Given the description of an element on the screen output the (x, y) to click on. 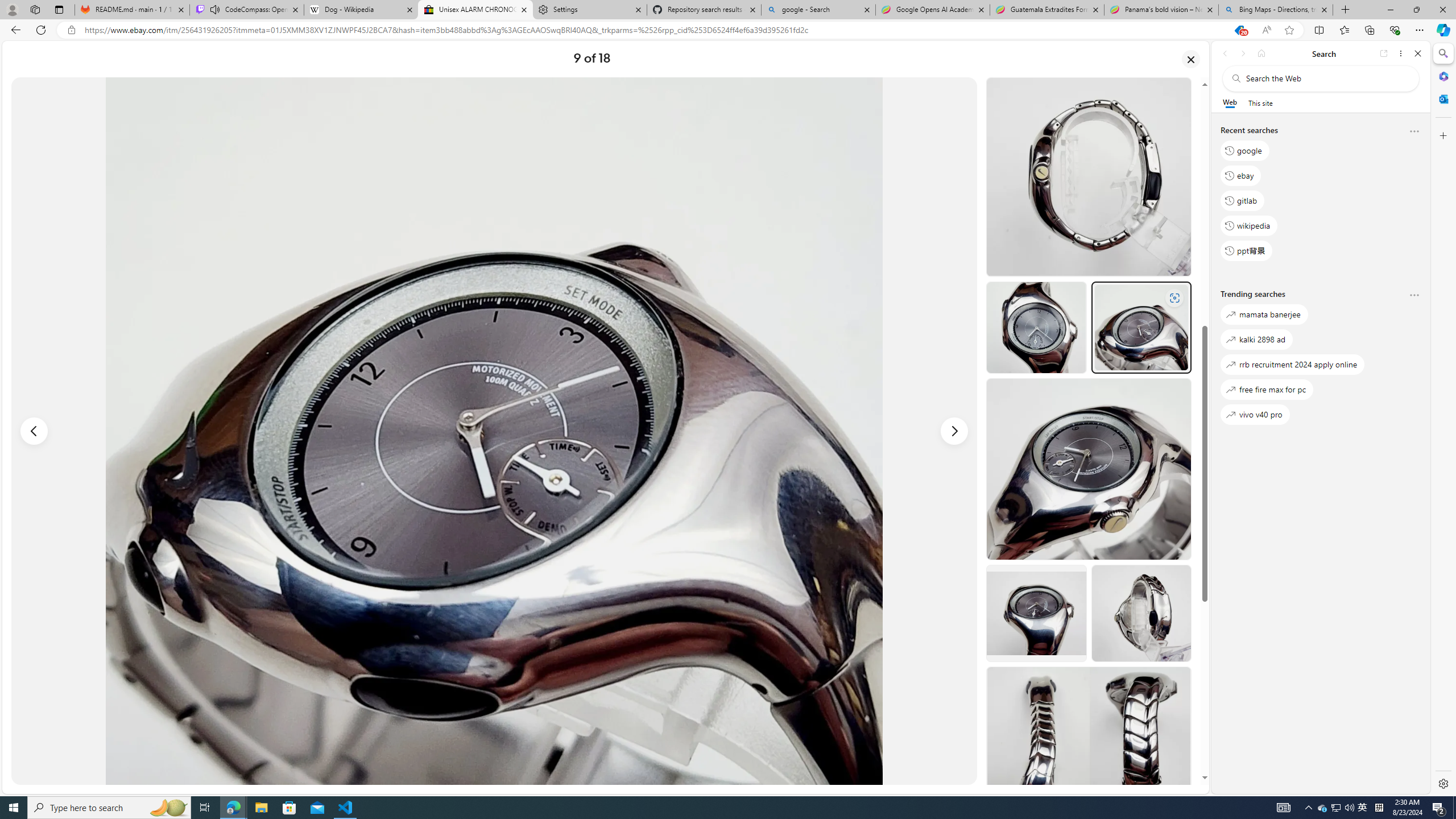
ebay (1240, 175)
free fire max for pc (1266, 389)
You have the best price! Shopping in Microsoft Edge, 20 (1239, 29)
Next image - Item images thumbnails (954, 430)
vivo v40 pro (1255, 414)
Close image gallery dialog (1190, 58)
